Given the description of an element on the screen output the (x, y) to click on. 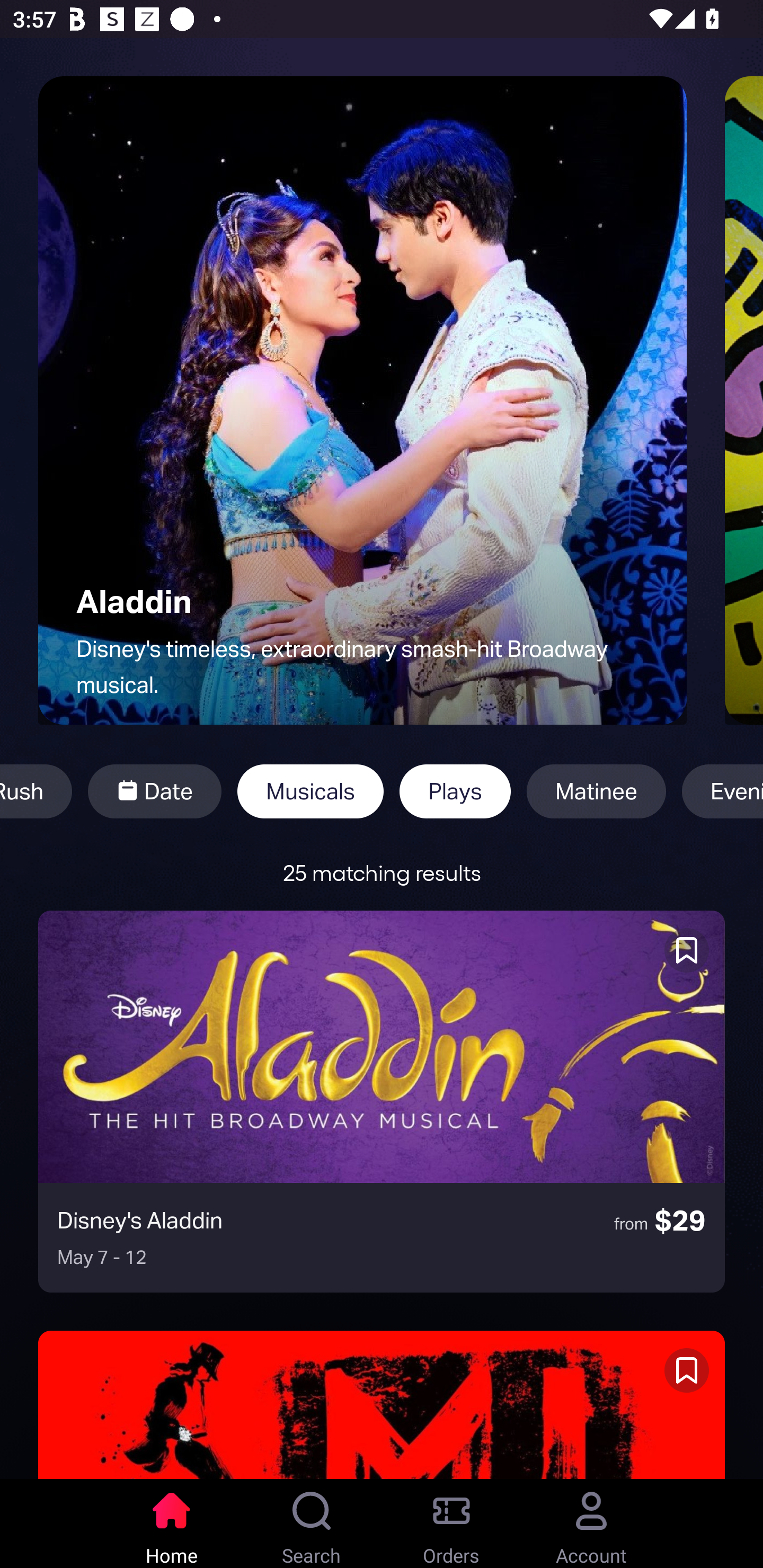
Date (154, 791)
Musicals (310, 791)
Plays (454, 791)
Matinee (596, 791)
Disney's Aladdin from $29 May 7 - 12 (381, 1101)
Search (311, 1523)
Orders (451, 1523)
Account (591, 1523)
